Given the description of an element on the screen output the (x, y) to click on. 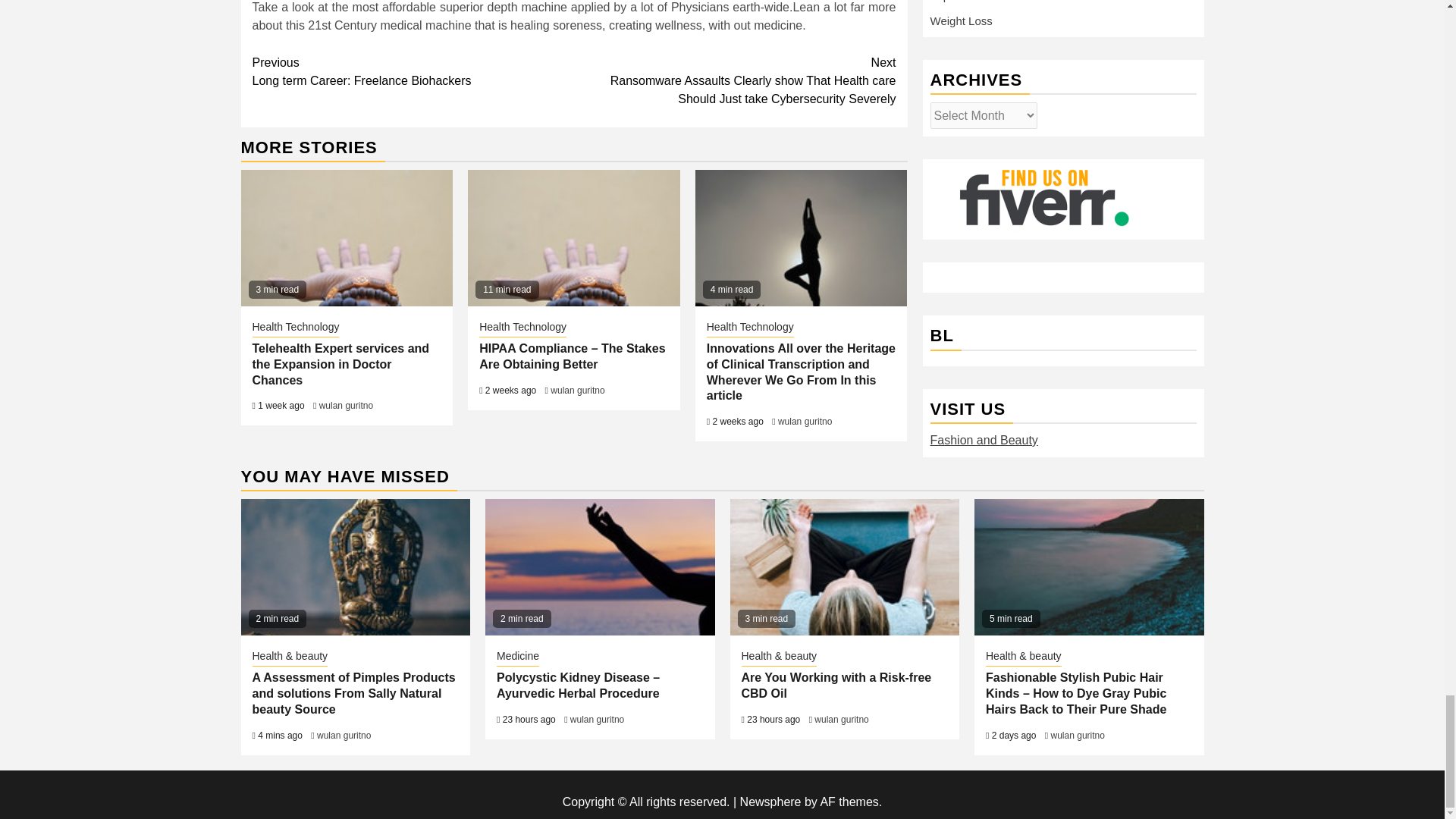
wulan guritno (345, 405)
Health Technology (522, 328)
Are You Working with a Risk-free CBD Oil (844, 566)
Health Technology (412, 72)
